Given the description of an element on the screen output the (x, y) to click on. 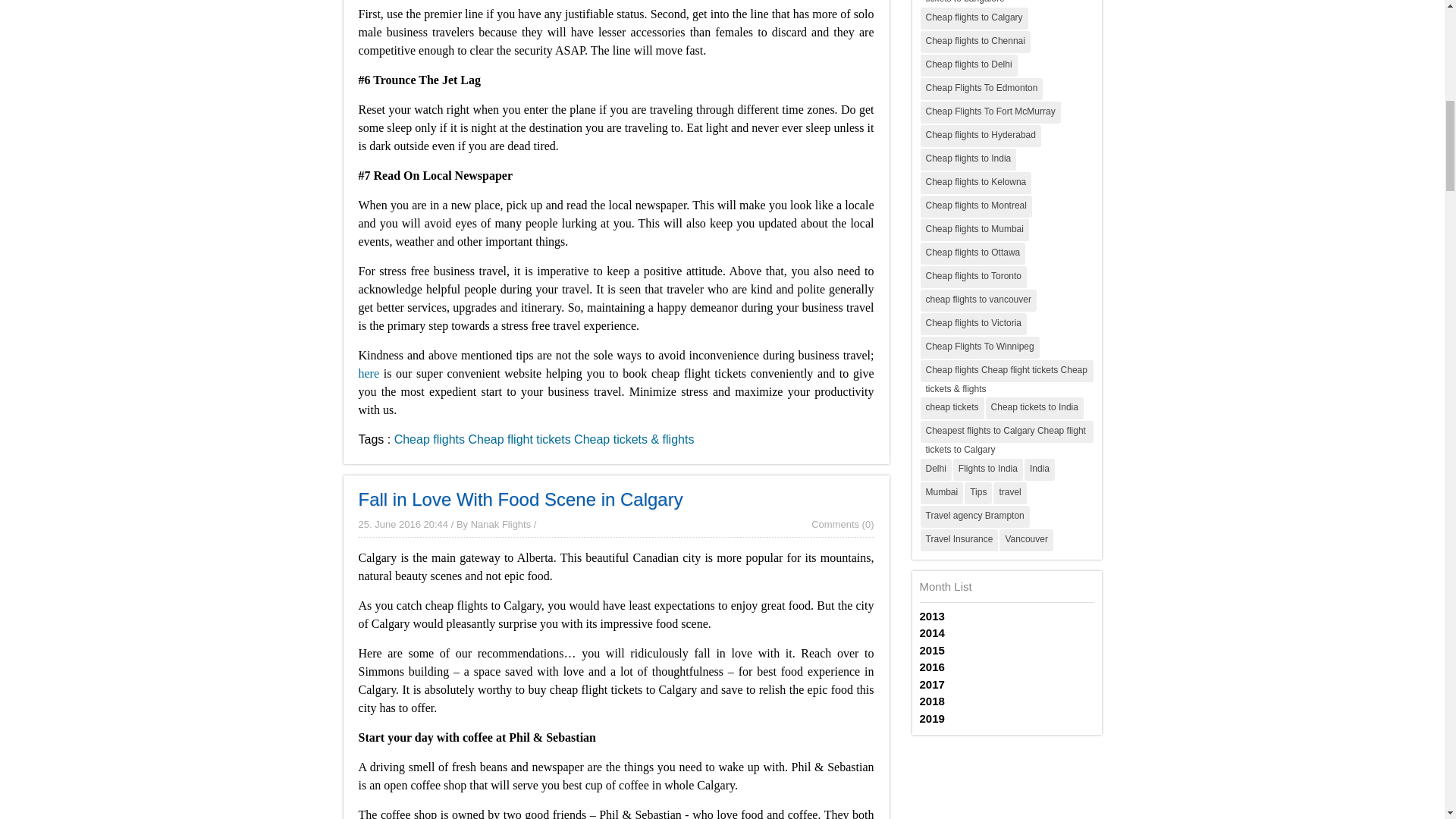
here (368, 373)
Fall in Love With Food Scene in Calgary (520, 498)
Nanak Flights (500, 523)
